Given the description of an element on the screen output the (x, y) to click on. 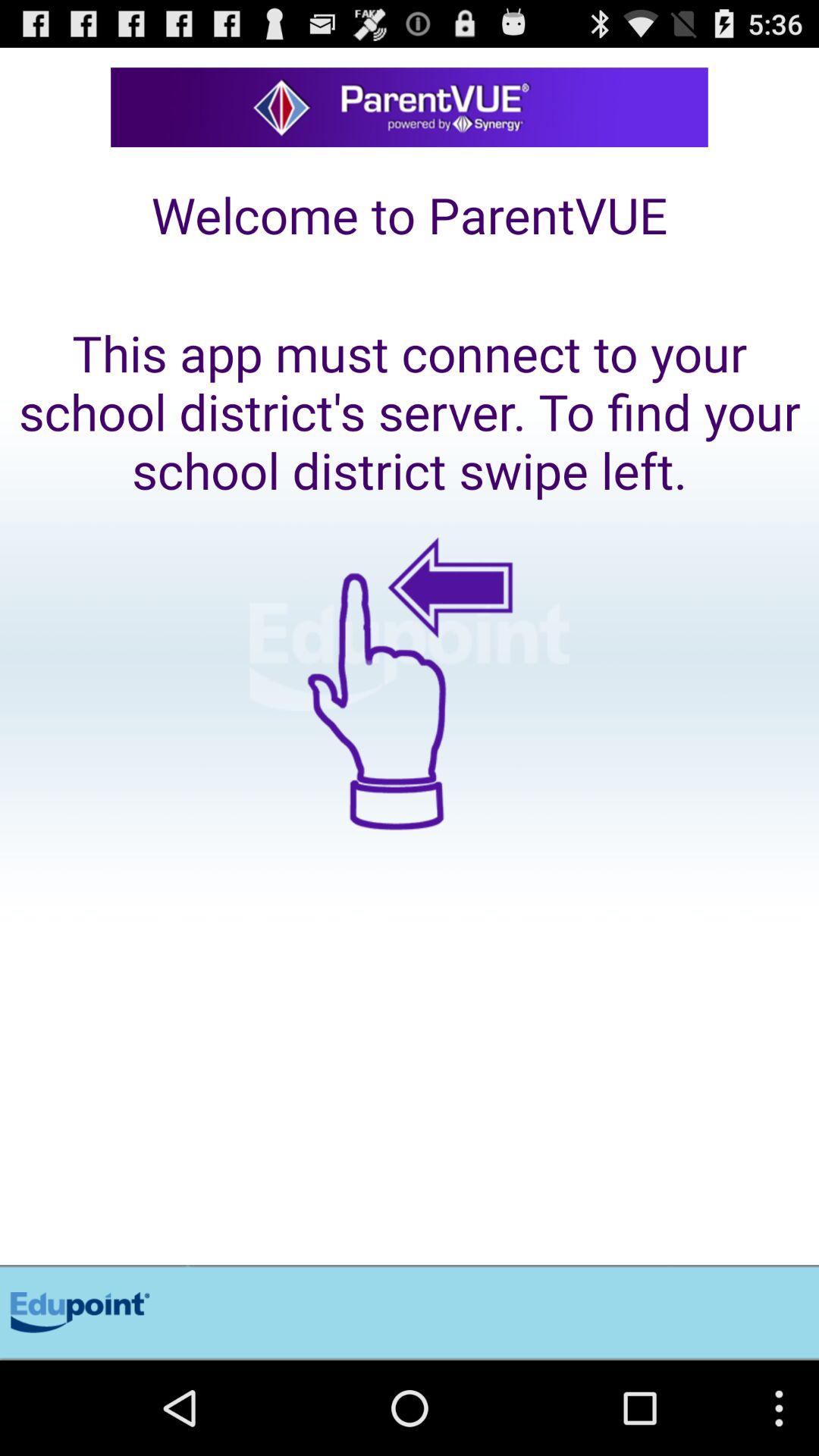
swipe left to find out more (409, 883)
